Given the description of an element on the screen output the (x, y) to click on. 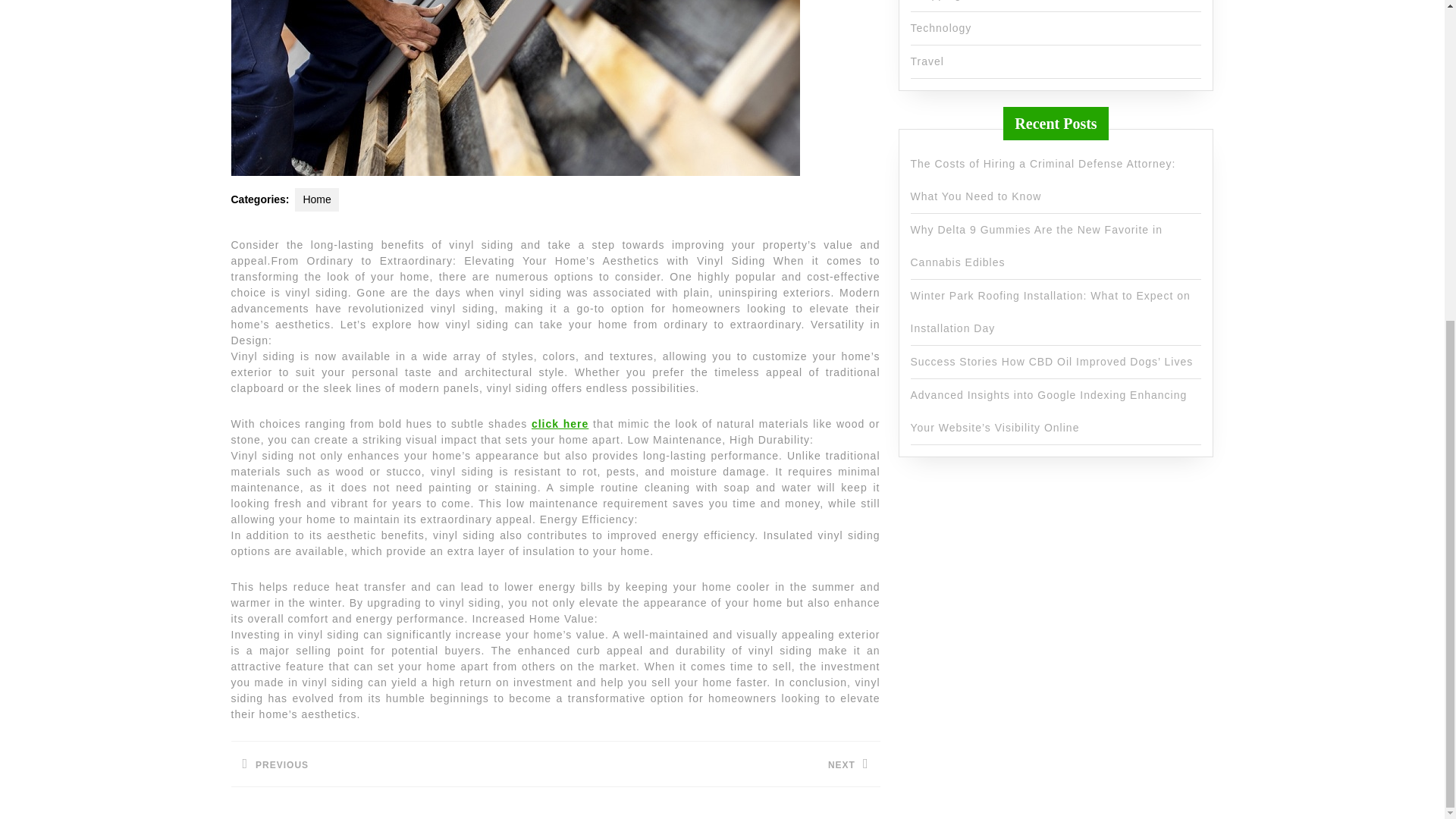
Why Delta 9 Gummies Are the New Favorite in Cannabis Edibles (1035, 245)
click here (559, 423)
Home (316, 199)
Travel (392, 764)
Technology (926, 61)
Shopping (940, 28)
